Given the description of an element on the screen output the (x, y) to click on. 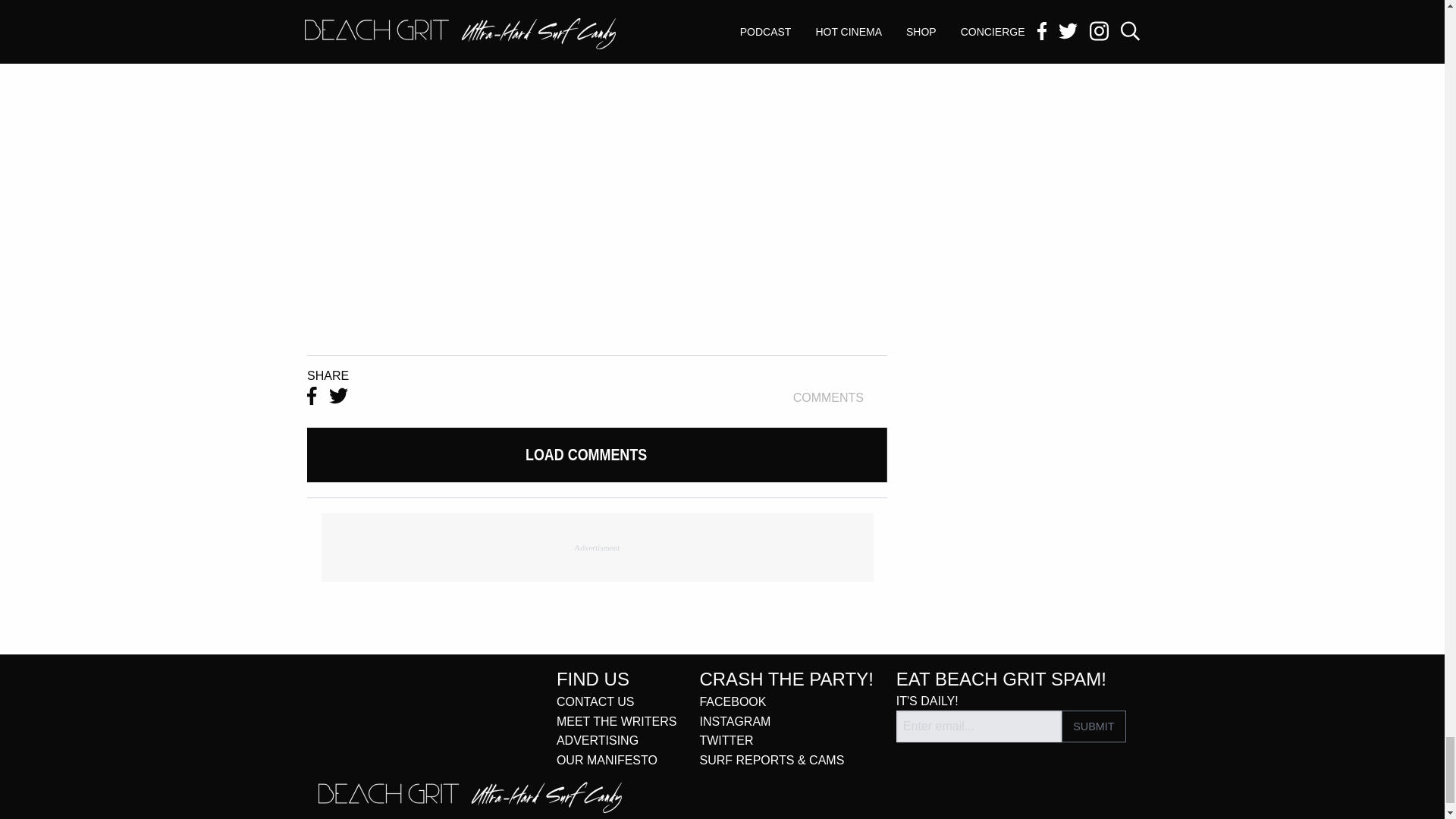
BG-LOGO (469, 797)
Submit (1093, 726)
